Given the description of an element on the screen output the (x, y) to click on. 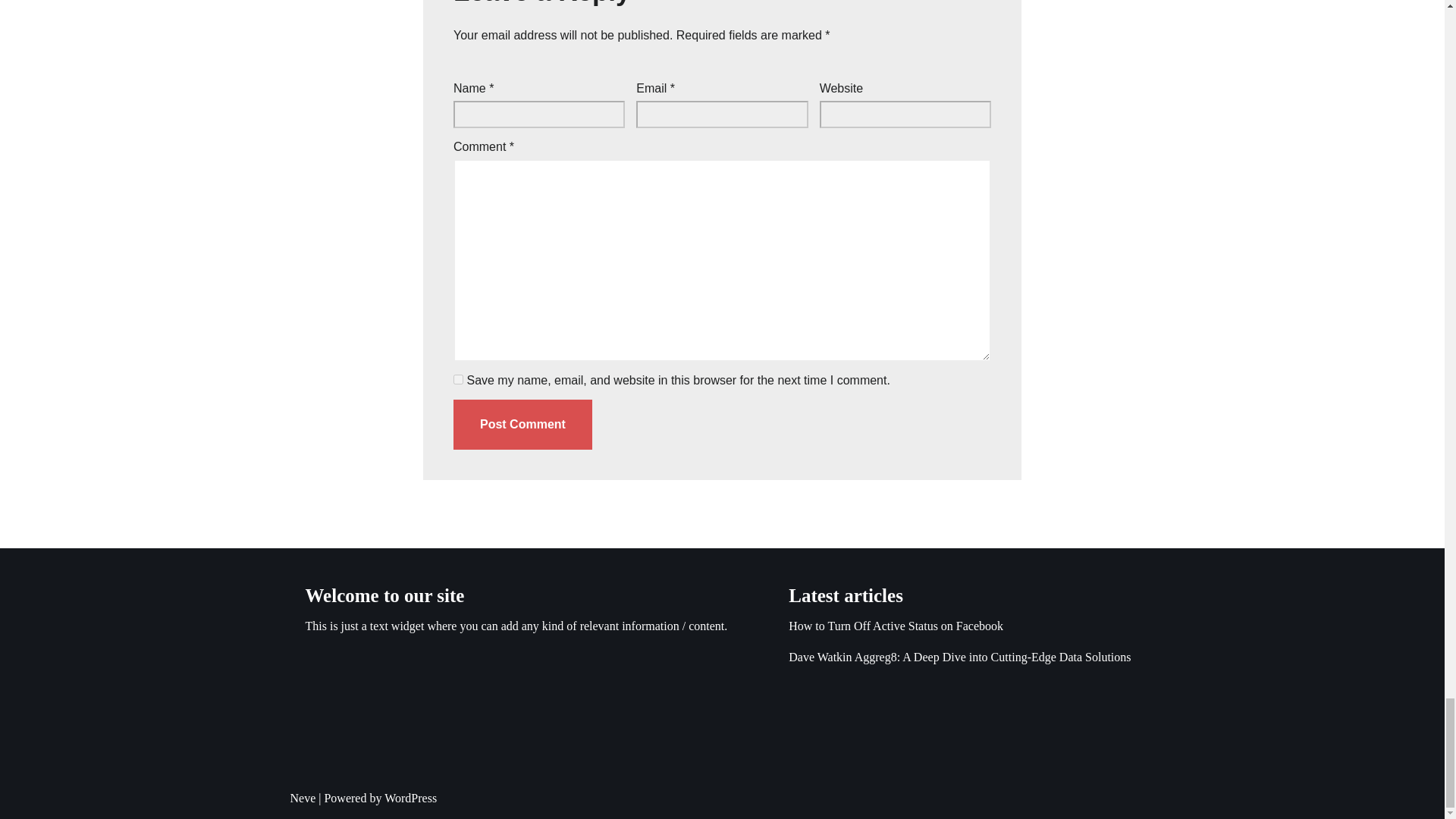
yes (457, 379)
WordPress (410, 797)
Post Comment (522, 424)
How to Turn Off Active Status on Facebook (896, 625)
Neve (302, 797)
Post Comment (522, 424)
